Given the description of an element on the screen output the (x, y) to click on. 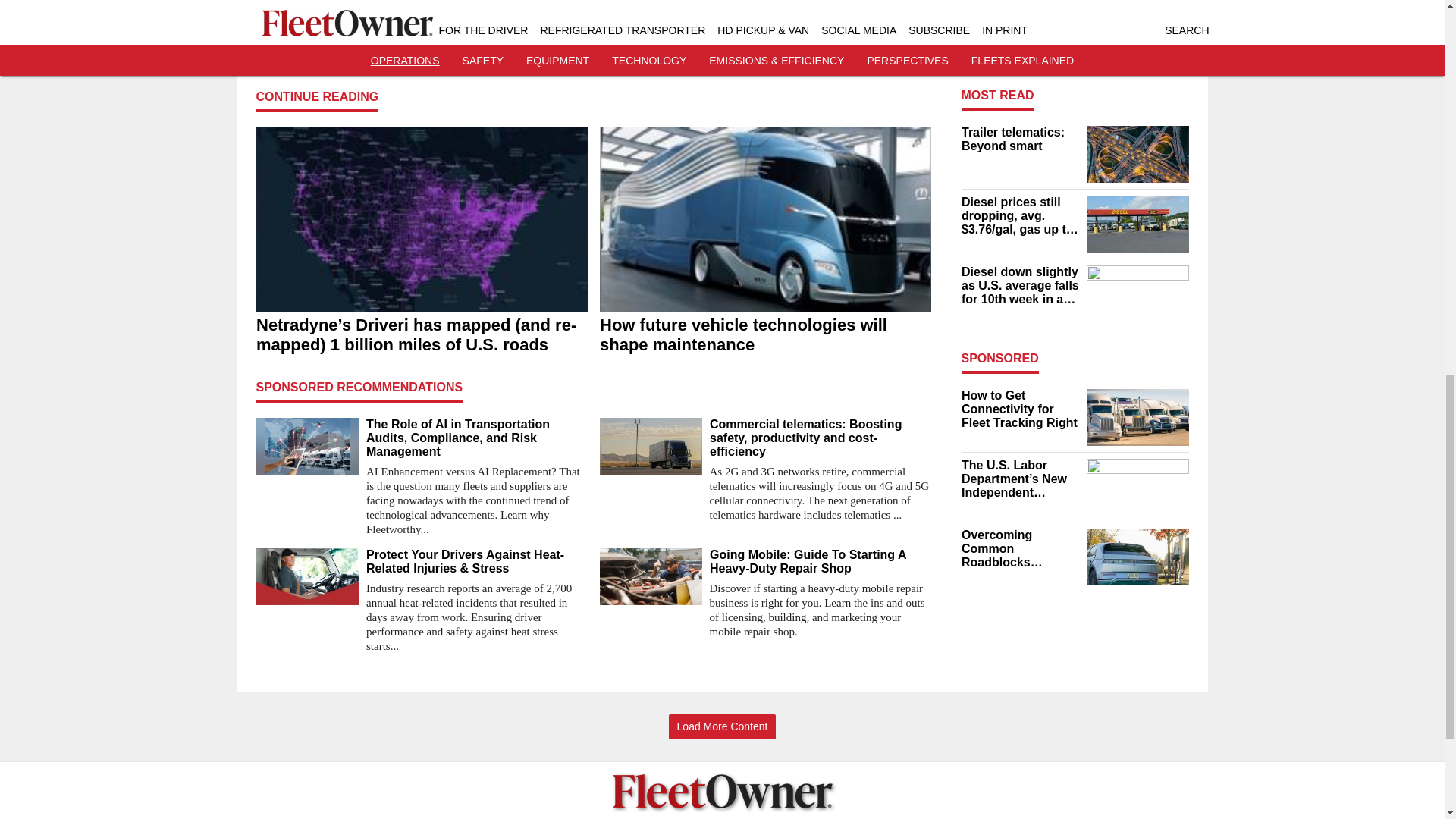
Join today! (593, 4)
Going Mobile: Guide To Starting A Heavy-Duty Repair Shop (820, 561)
How future vehicle technologies will shape maintenance (764, 334)
Freight recession light at end of the tunnel (1137, 32)
I already have an account (593, 26)
